Given the description of an element on the screen output the (x, y) to click on. 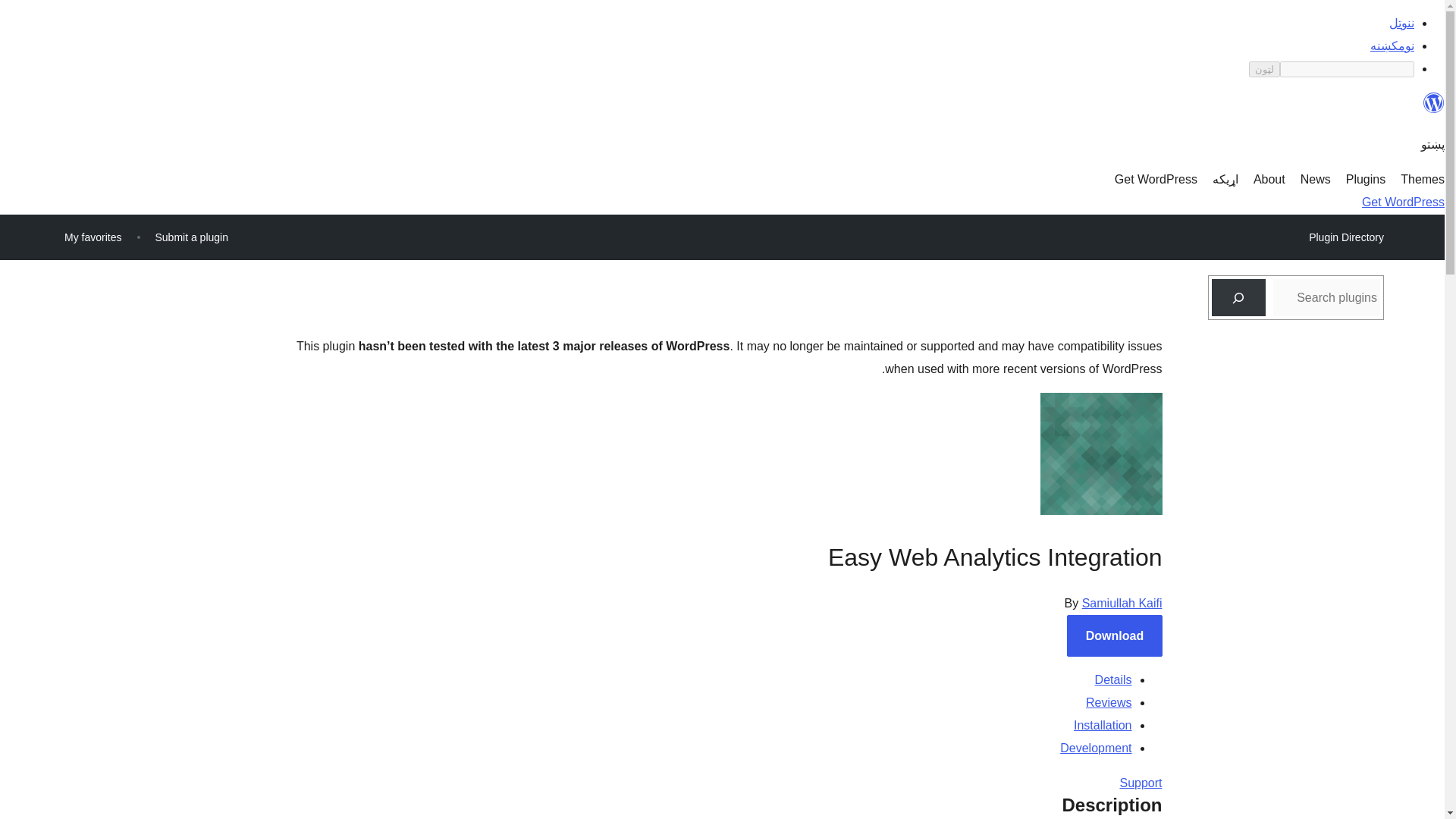
Download (1114, 635)
My favorites (93, 236)
Reviews (1108, 702)
Support (1140, 782)
About (1269, 179)
Get WordPress (1155, 179)
Submit a plugin (191, 236)
Plugins (1365, 179)
Details (1113, 679)
News (1315, 179)
Development (1095, 748)
Installation (1103, 725)
Samiullah Kaifi (1121, 603)
Plugin Directory (1345, 237)
